Given the description of an element on the screen output the (x, y) to click on. 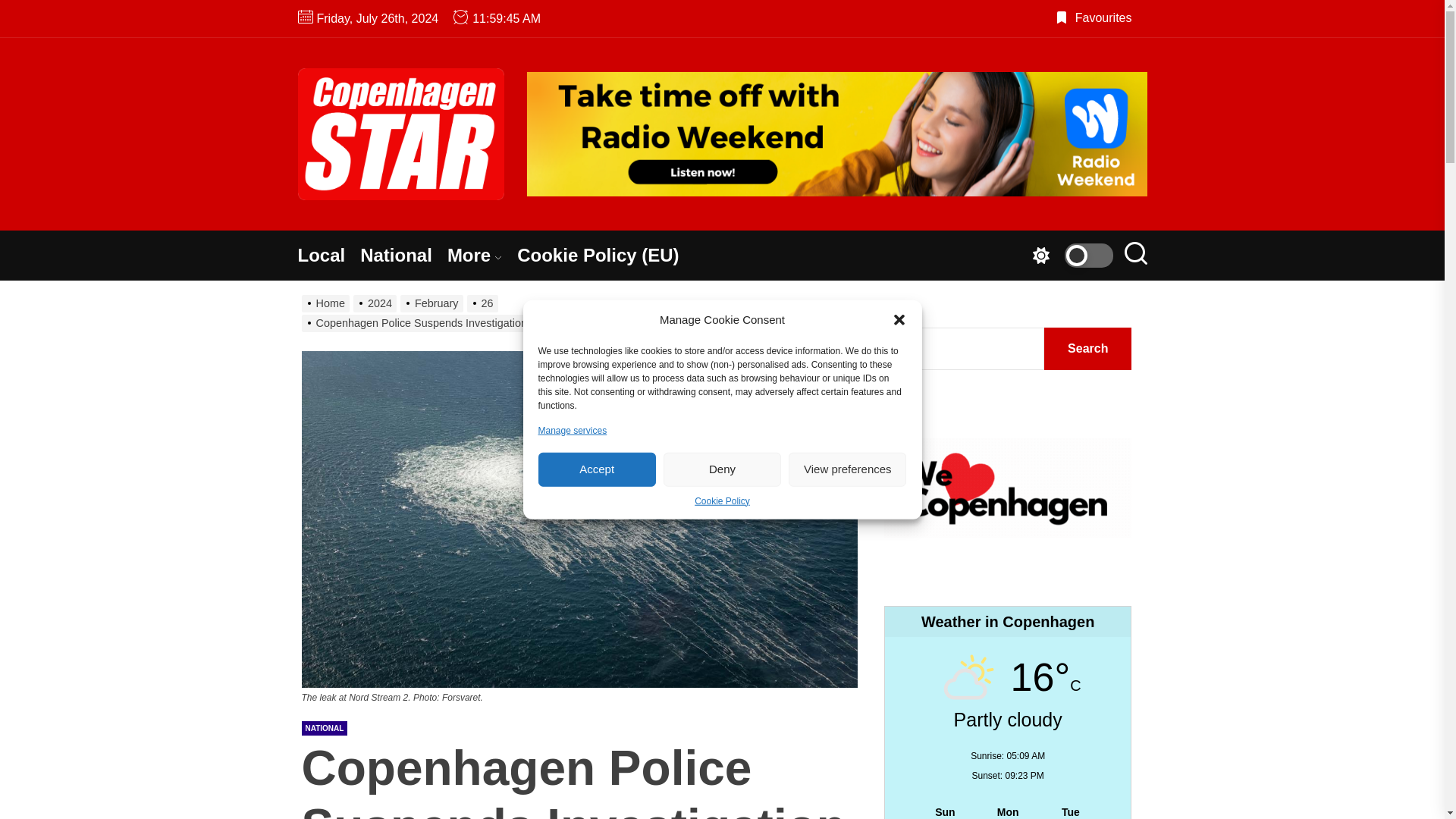
More (481, 255)
National (402, 255)
Manage services (572, 429)
Deny (721, 469)
Cookie Policy (721, 499)
View preferences (847, 469)
Accept (597, 469)
Favourites (1093, 18)
Local (328, 255)
